Given the description of an element on the screen output the (x, y) to click on. 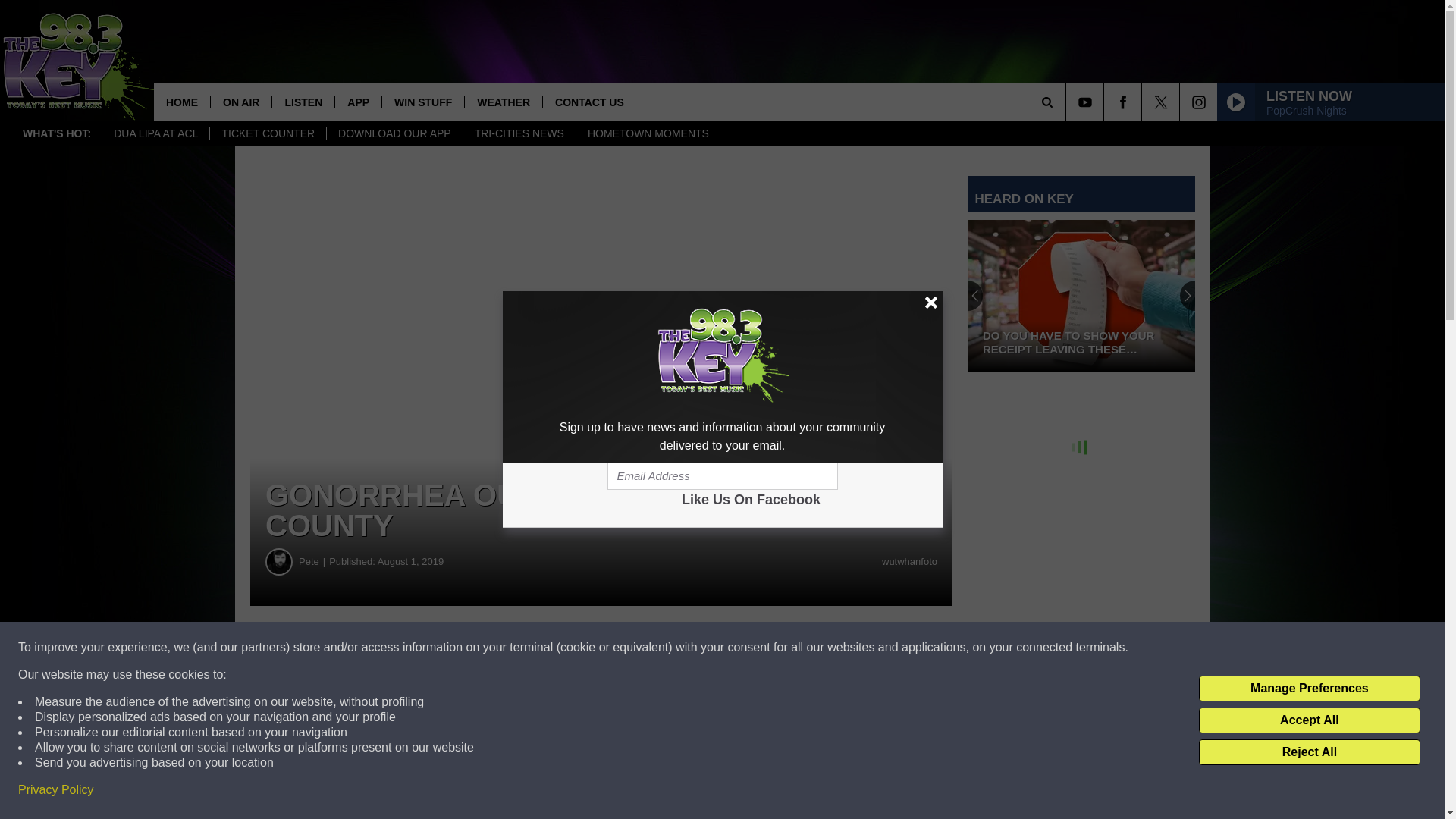
DOWNLOAD OUR APP (394, 133)
Email Address (722, 475)
SEARCH (1068, 102)
WIN STUFF (422, 102)
WEATHER (502, 102)
HOME (181, 102)
TRI-CITIES NEWS (519, 133)
Manage Preferences (1309, 688)
LISTEN (302, 102)
HOMETOWN MOMENTS (647, 133)
Share on Facebook (460, 647)
Privacy Policy (55, 789)
Reject All (1309, 751)
SEARCH (1068, 102)
WHAT'S HOT: (56, 133)
